Given the description of an element on the screen output the (x, y) to click on. 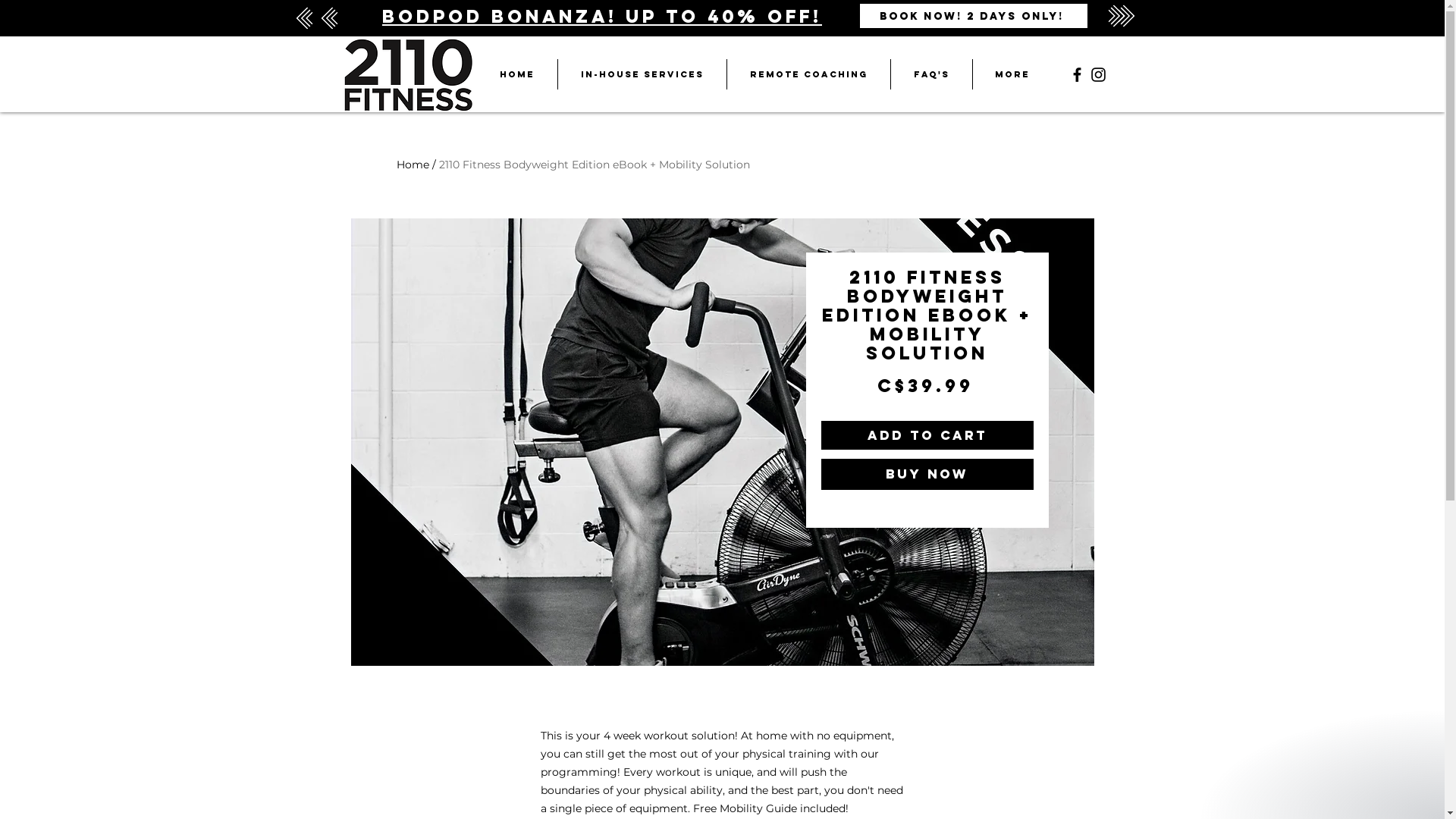
Buy Now Element type: text (926, 473)
BOOK NOW! 2 DAYS ONLY! Element type: text (973, 15)
Add to Cart Element type: text (926, 435)
2110 Fitness Bodyweight Edition eBook + Mobility Solution Element type: text (593, 164)
Home Element type: text (411, 164)
In-House Services Element type: text (642, 74)
FAQ's Element type: text (930, 74)
Home Element type: text (516, 74)
Remote Coaching Element type: text (807, 74)
